Given the description of an element on the screen output the (x, y) to click on. 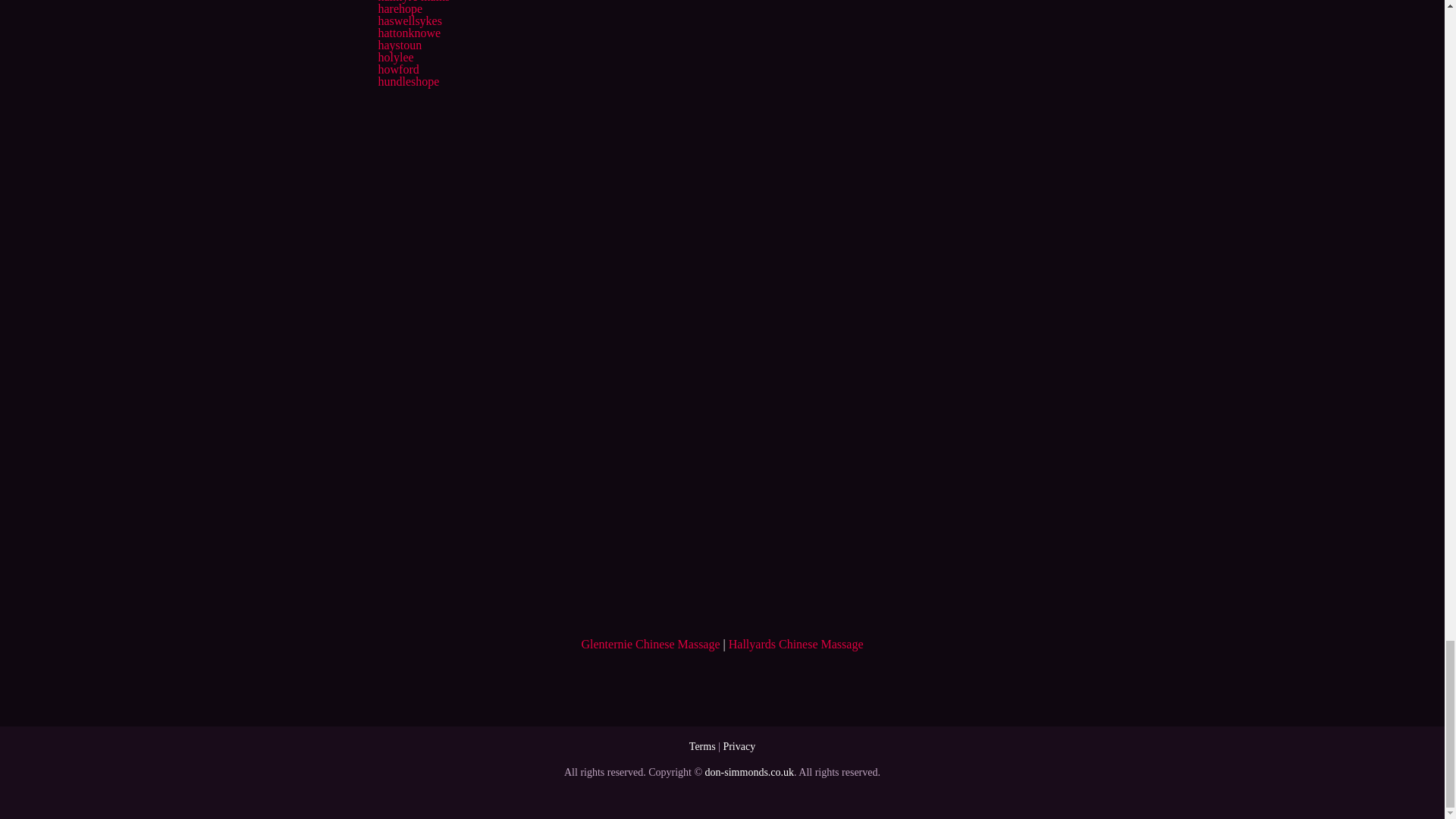
don-simmonds.co.uk (748, 772)
hundleshope (408, 81)
Terms (702, 746)
haystoun (399, 44)
harehope (399, 8)
halmyre mains (413, 1)
howford (398, 69)
Privacy (738, 746)
Terms (702, 746)
haswellsykes (409, 20)
